Given the description of an element on the screen output the (x, y) to click on. 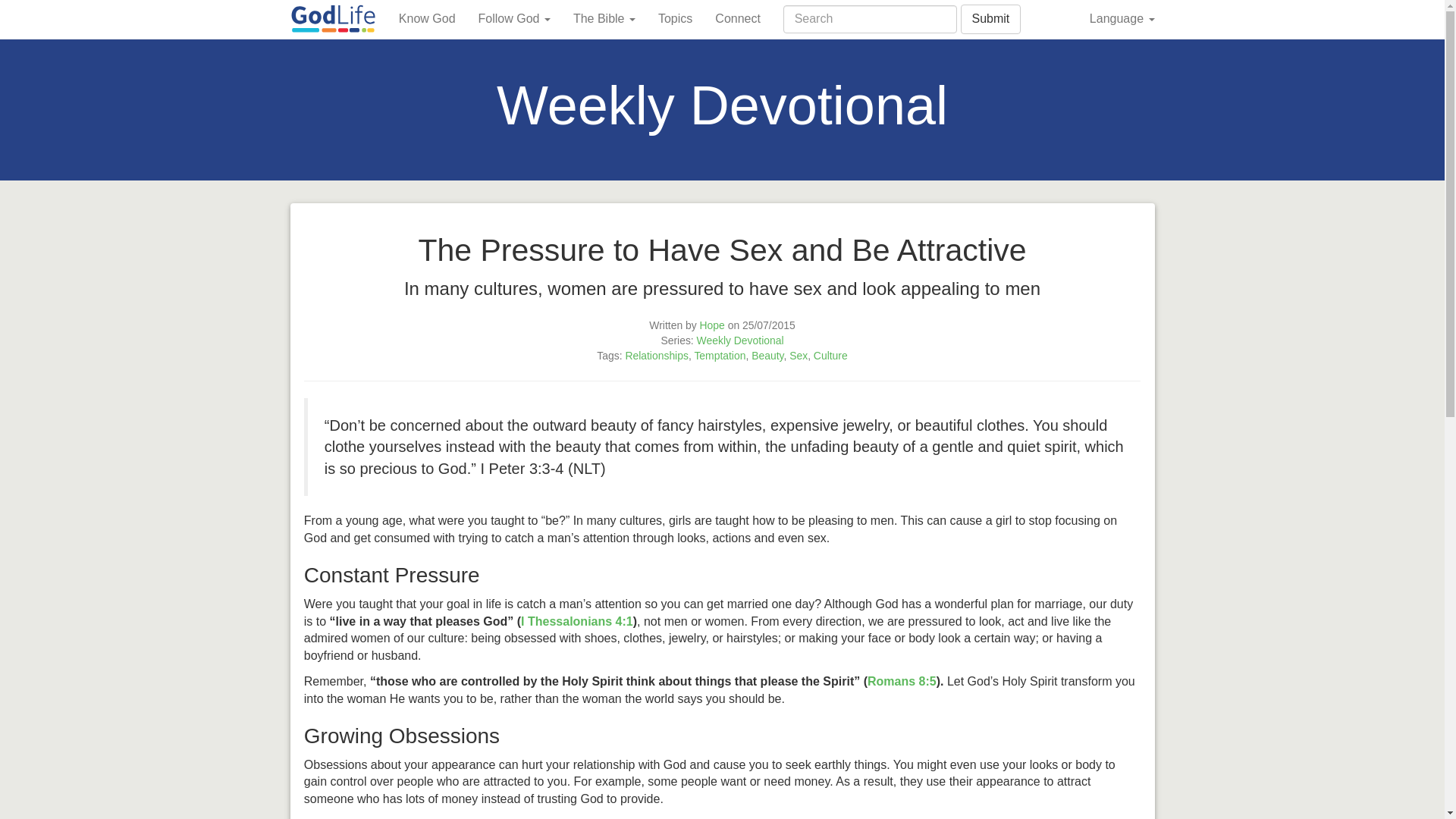
Connect (737, 18)
Follow God (514, 18)
Relationships (656, 355)
Sex (798, 355)
Romans 8:5 (901, 680)
Temptation (719, 355)
Know God (427, 18)
Hope (712, 325)
Submit (990, 19)
Culture (830, 355)
The Bible (604, 18)
I Thessalonians 4:1 (577, 621)
Language (1122, 18)
Beauty (767, 355)
Weekly Devotional (740, 340)
